Given the description of an element on the screen output the (x, y) to click on. 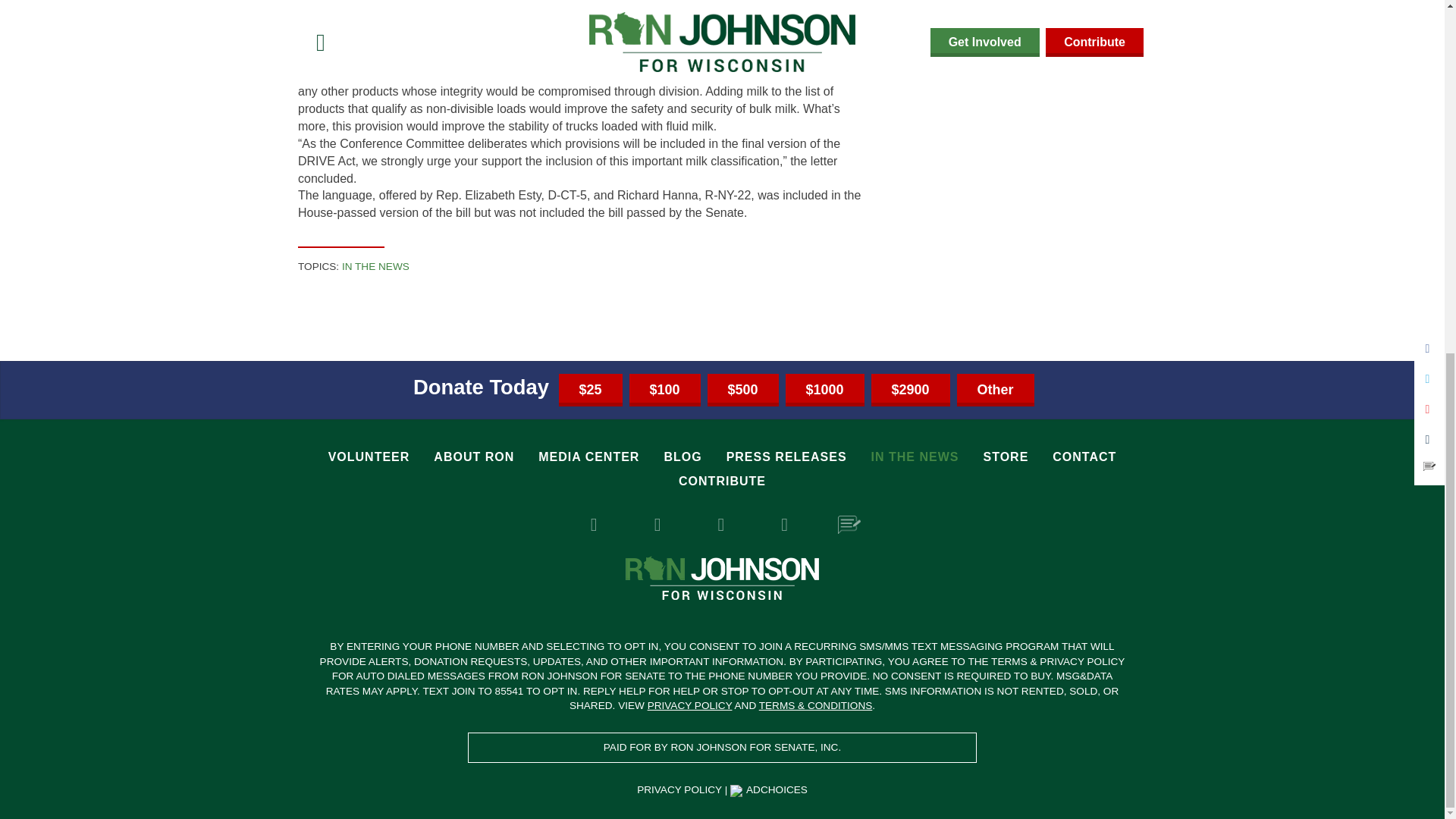
MEDIA CENTER (588, 457)
IN THE NEWS (914, 457)
ABOUT RON (473, 457)
PRESS RELEASES (786, 457)
CONTACT (1084, 457)
Other (994, 389)
In The News Category (375, 266)
BLOG (682, 457)
CONTRIBUTE (721, 481)
STORE (1004, 457)
